Given the description of an element on the screen output the (x, y) to click on. 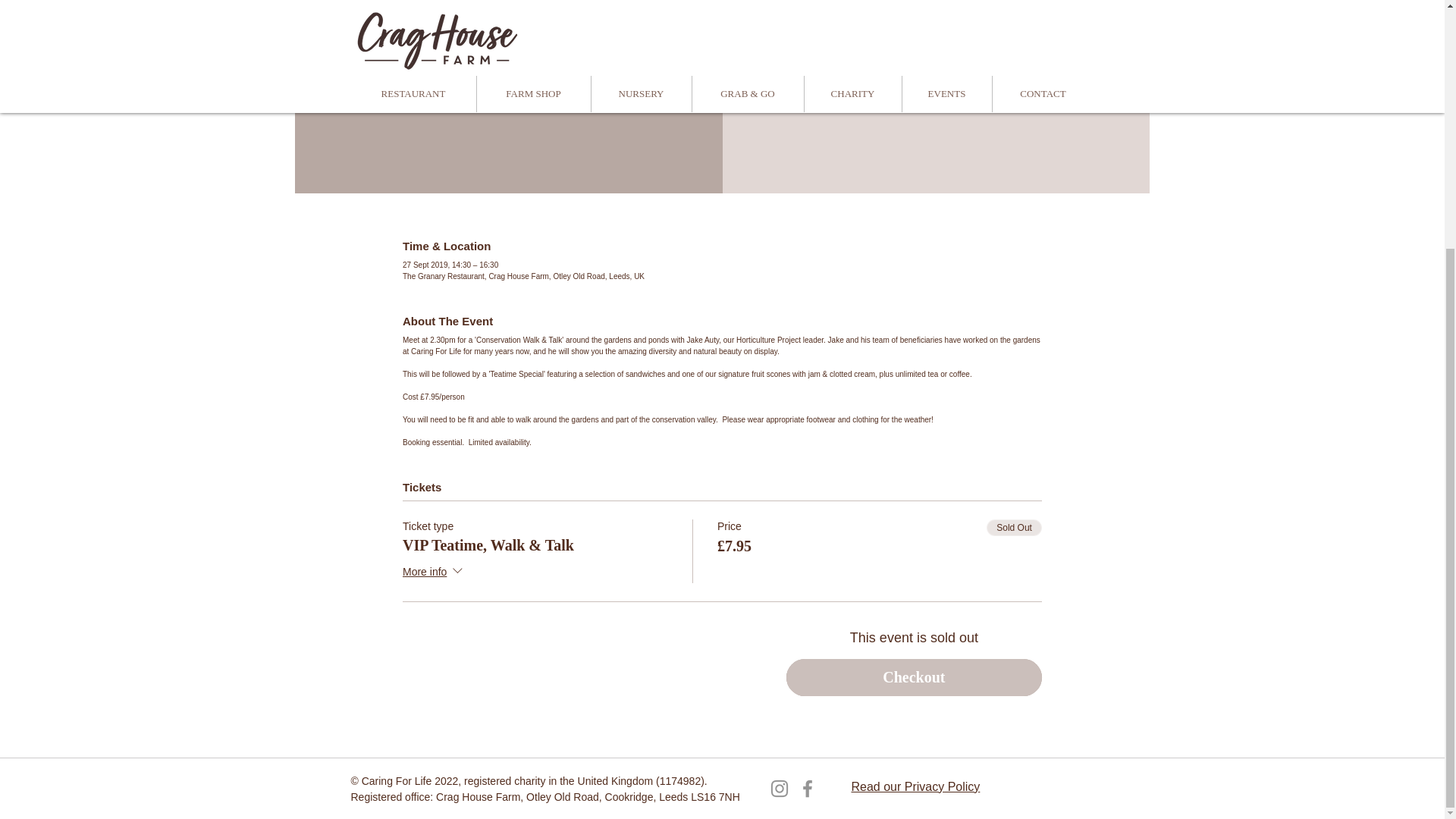
See other events (935, 33)
More info (434, 572)
Checkout (914, 677)
Read our Privacy Policy (914, 439)
